Given the description of an element on the screen output the (x, y) to click on. 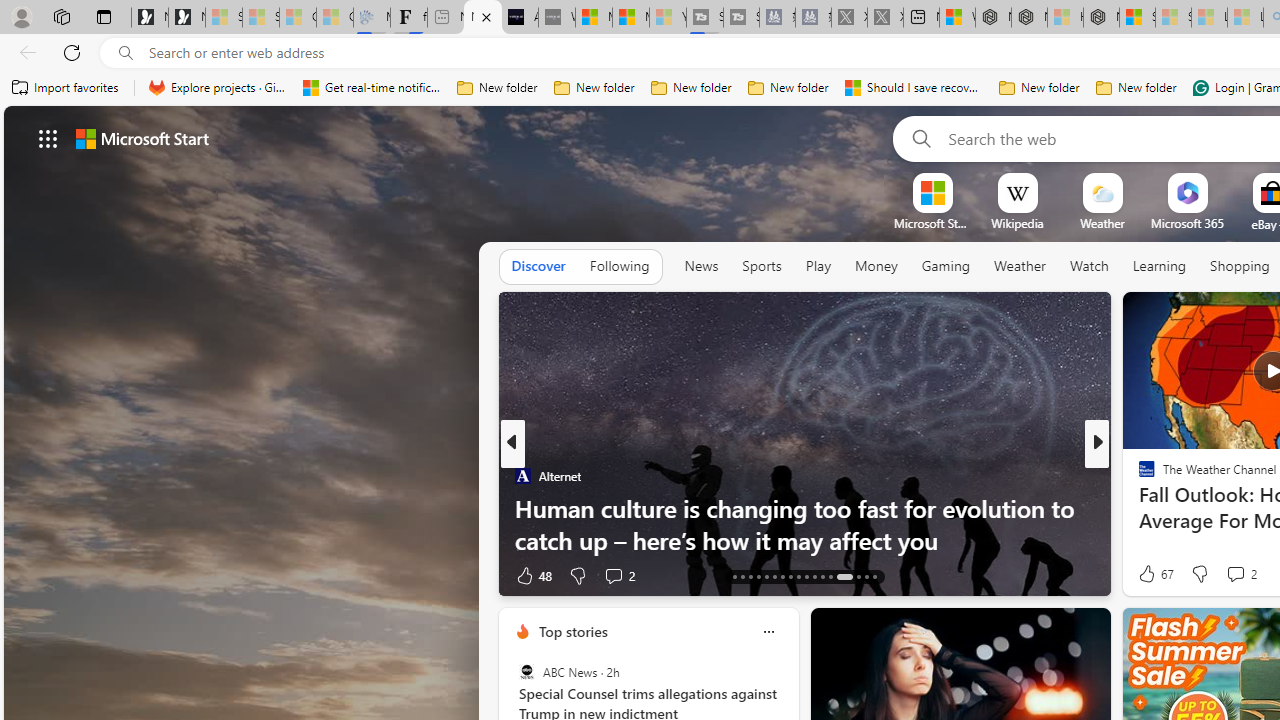
Ad (1142, 575)
View comments 11 Comment (11, 575)
Search (917, 138)
You're following The Weather Channel (445, 579)
AutomationID: tab-41 (857, 576)
Discover (538, 265)
Play (818, 267)
Sports (761, 265)
Newsletter Sign Up (186, 17)
Nordace - Summer Adventures 2024 (1029, 17)
Following (619, 265)
Top stories (572, 631)
Gaming (945, 265)
AutomationID: tab-25 (797, 576)
